Given the description of an element on the screen output the (x, y) to click on. 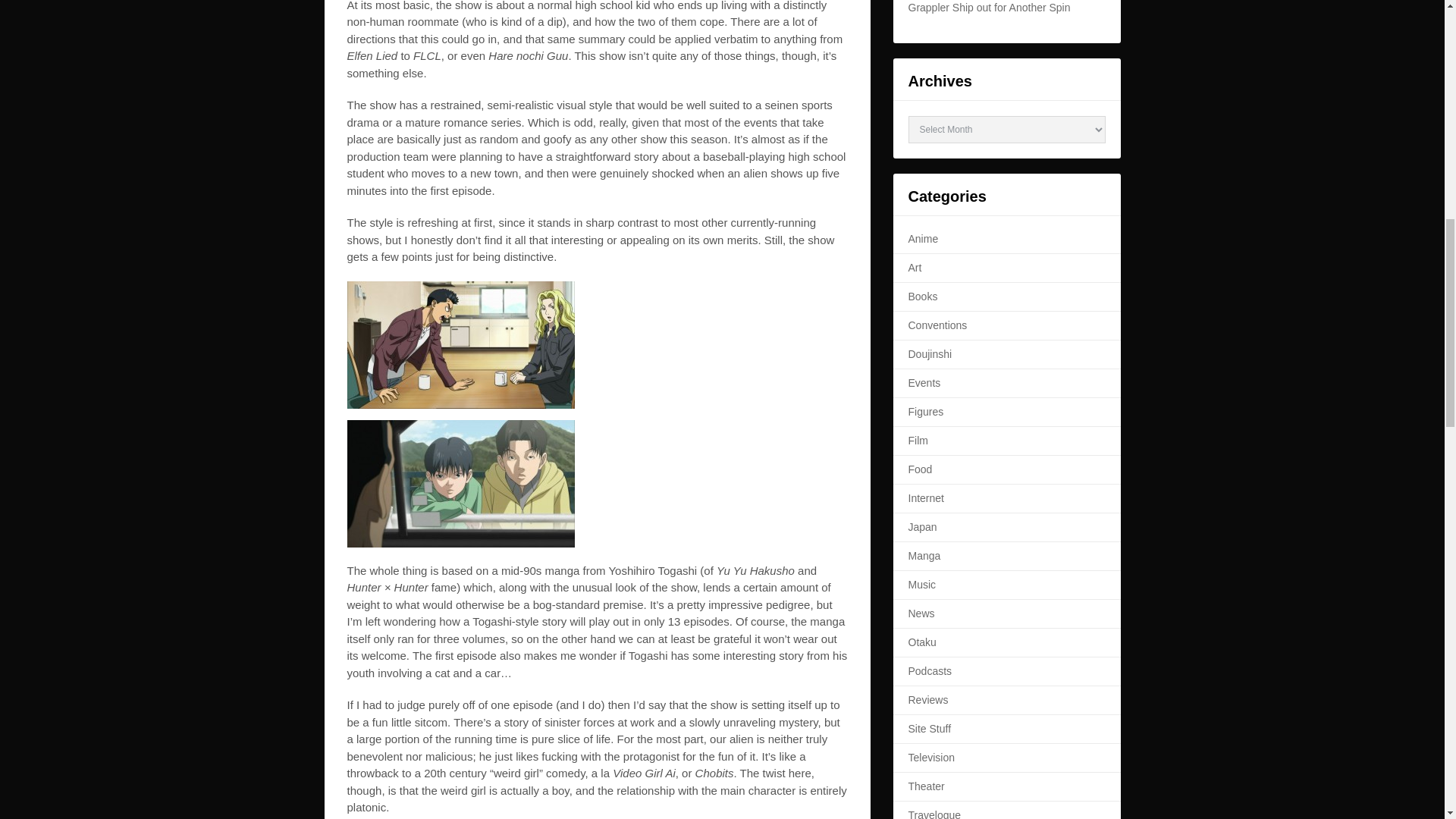
Events (924, 382)
Why does Tsutsui's apartment have two landlines? (461, 344)
Conventions (938, 325)
Manga (924, 555)
Otaku (922, 642)
Figures (925, 411)
Reviews (928, 699)
Art (914, 267)
Music (922, 584)
Film (918, 440)
